Given the description of an element on the screen output the (x, y) to click on. 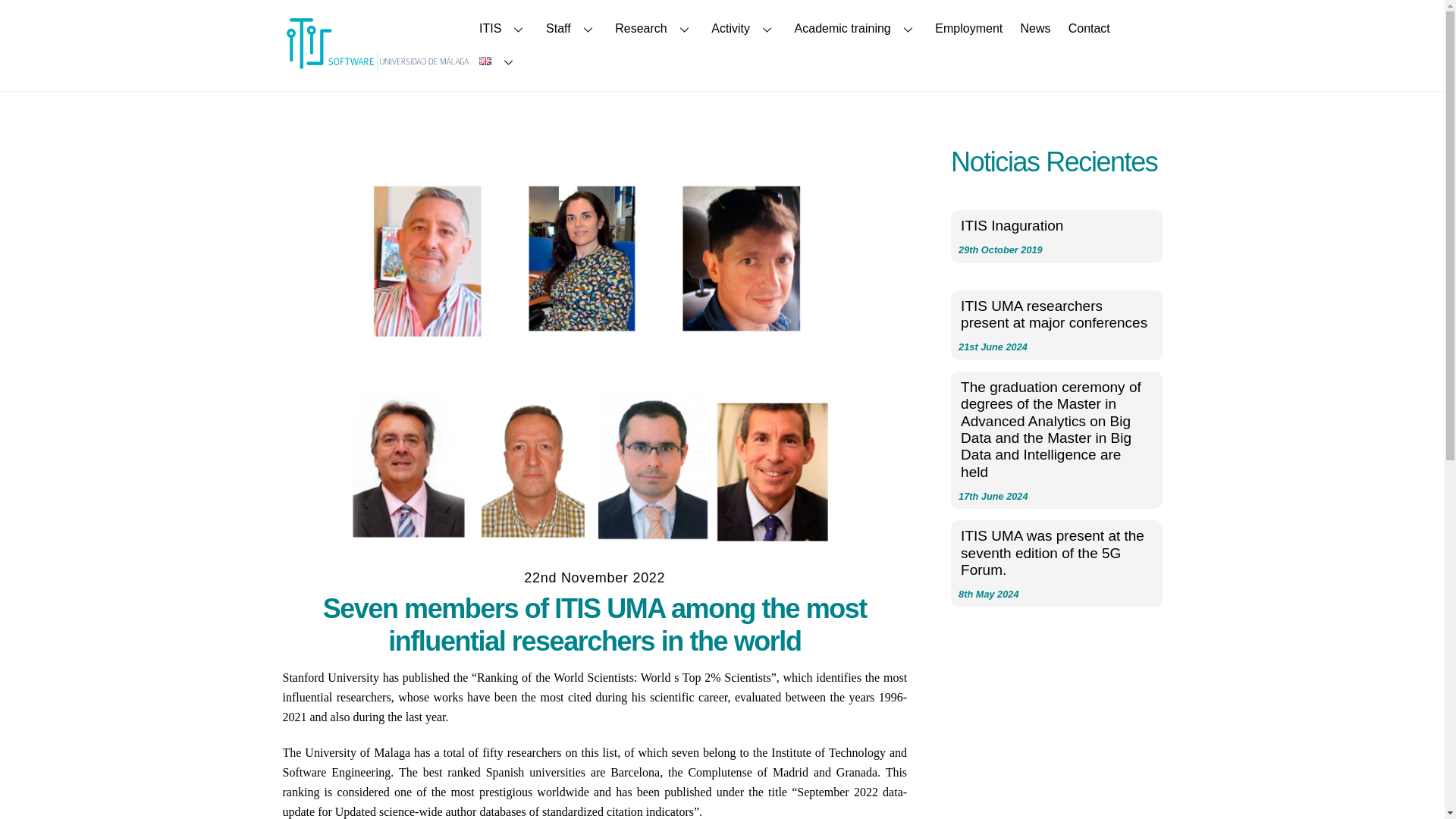
Research (654, 29)
ITIS (503, 29)
Employment (969, 29)
Activity (744, 29)
Contact (1088, 29)
Academic training (855, 29)
ITIS UMA (376, 65)
Staff (571, 29)
News (1035, 29)
